Given the description of an element on the screen output the (x, y) to click on. 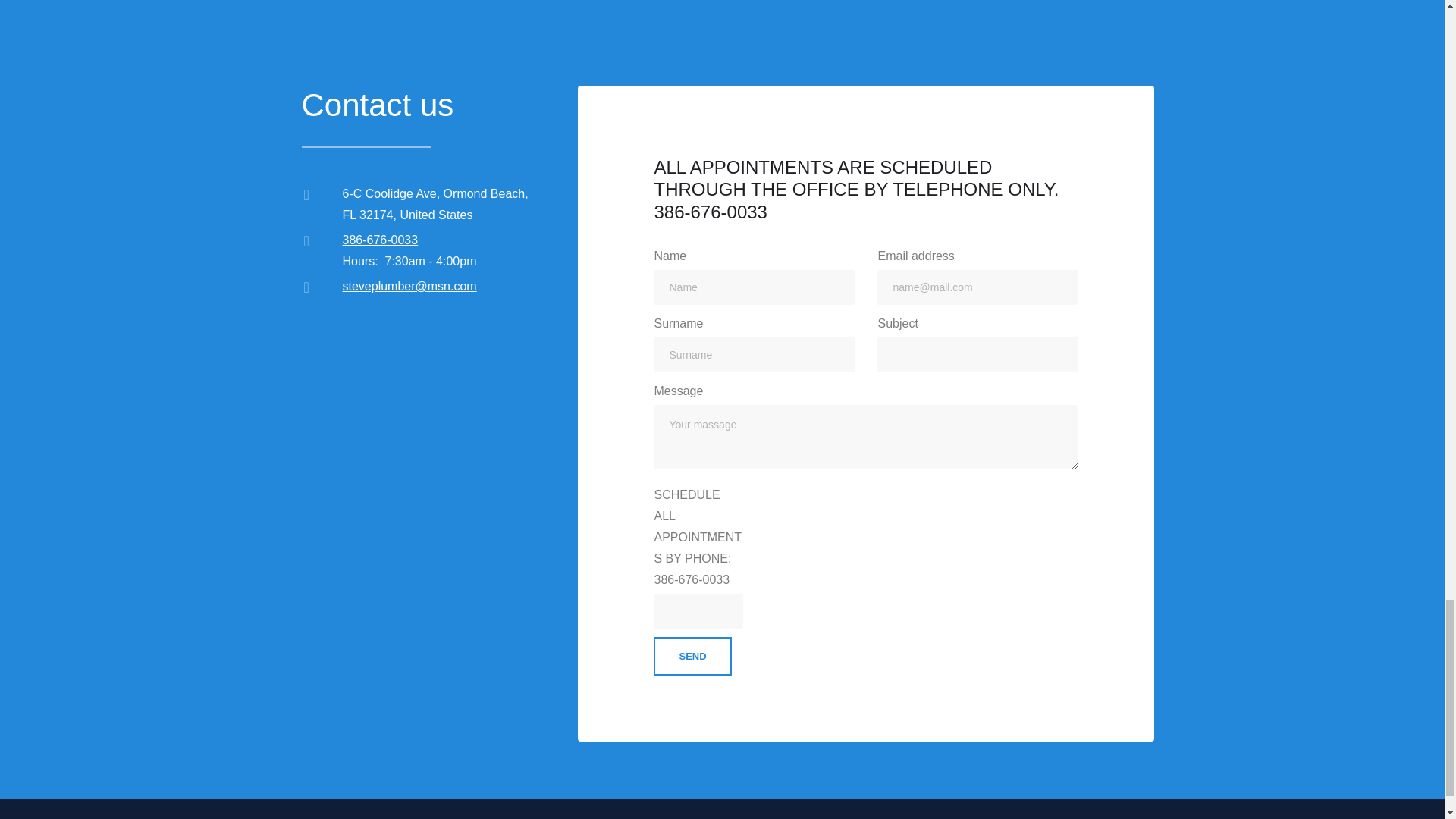
SEND (691, 656)
386-676-0033 (380, 239)
